Given the description of an element on the screen output the (x, y) to click on. 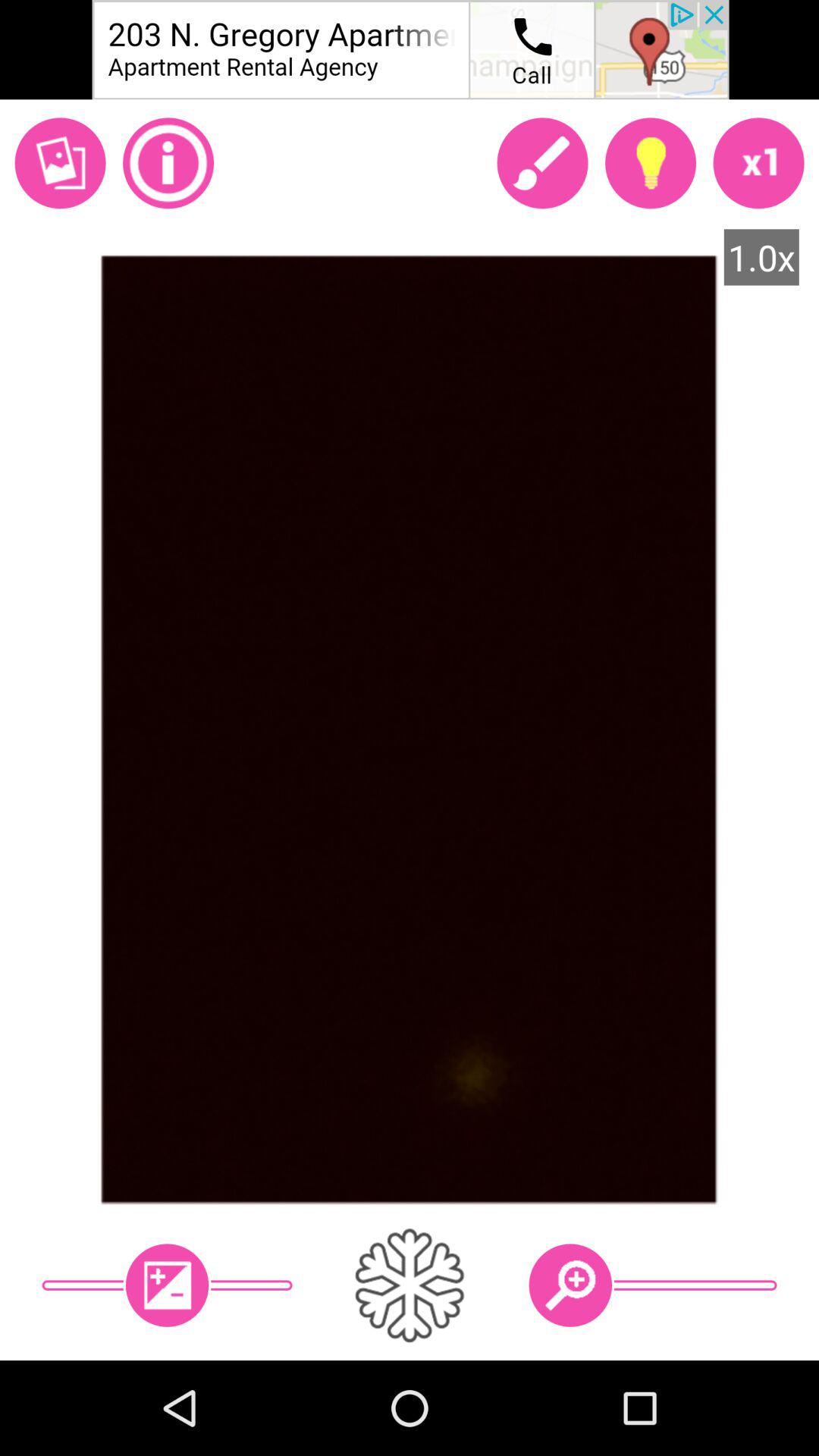
go to advertised company (409, 49)
